Given the description of an element on the screen output the (x, y) to click on. 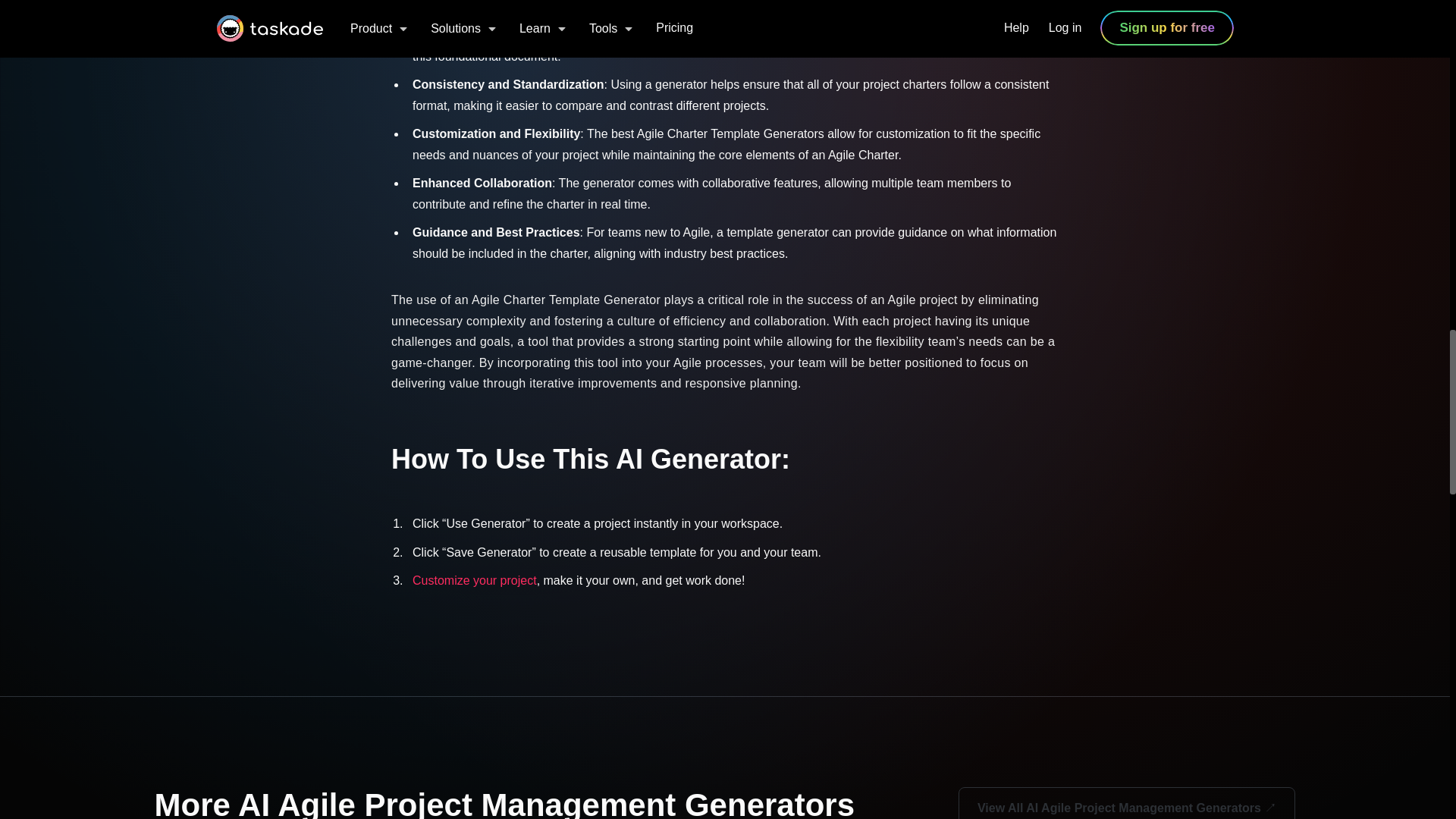
Customize your project (474, 580)
